Given the description of an element on the screen output the (x, y) to click on. 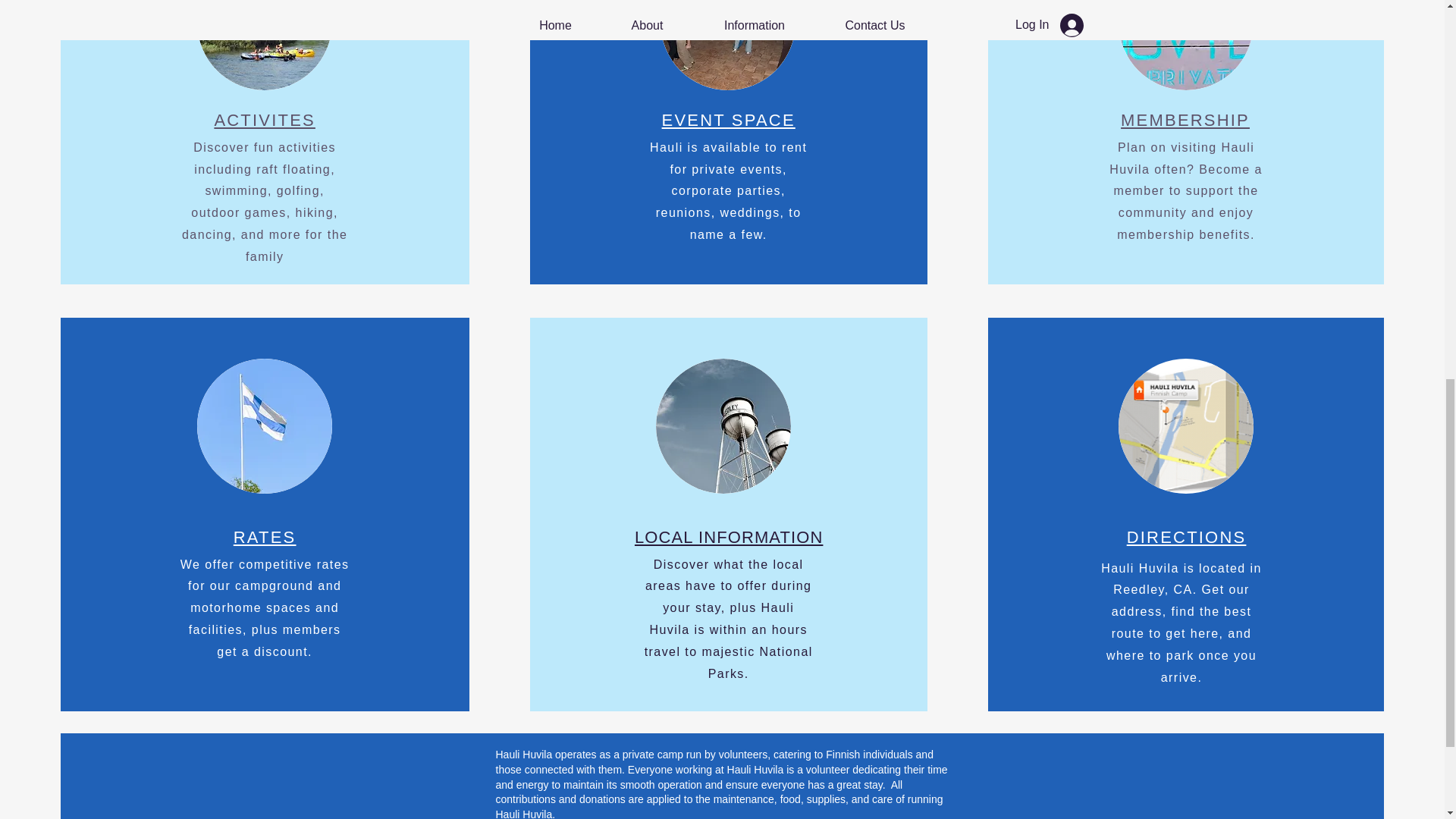
ACTIVITES (264, 119)
DIRECTIONS (1186, 537)
MEMBERSHIP (1185, 119)
RATES (264, 537)
LOCAL INFORMATION (729, 537)
EVENT SPACE (728, 119)
